Given the description of an element on the screen output the (x, y) to click on. 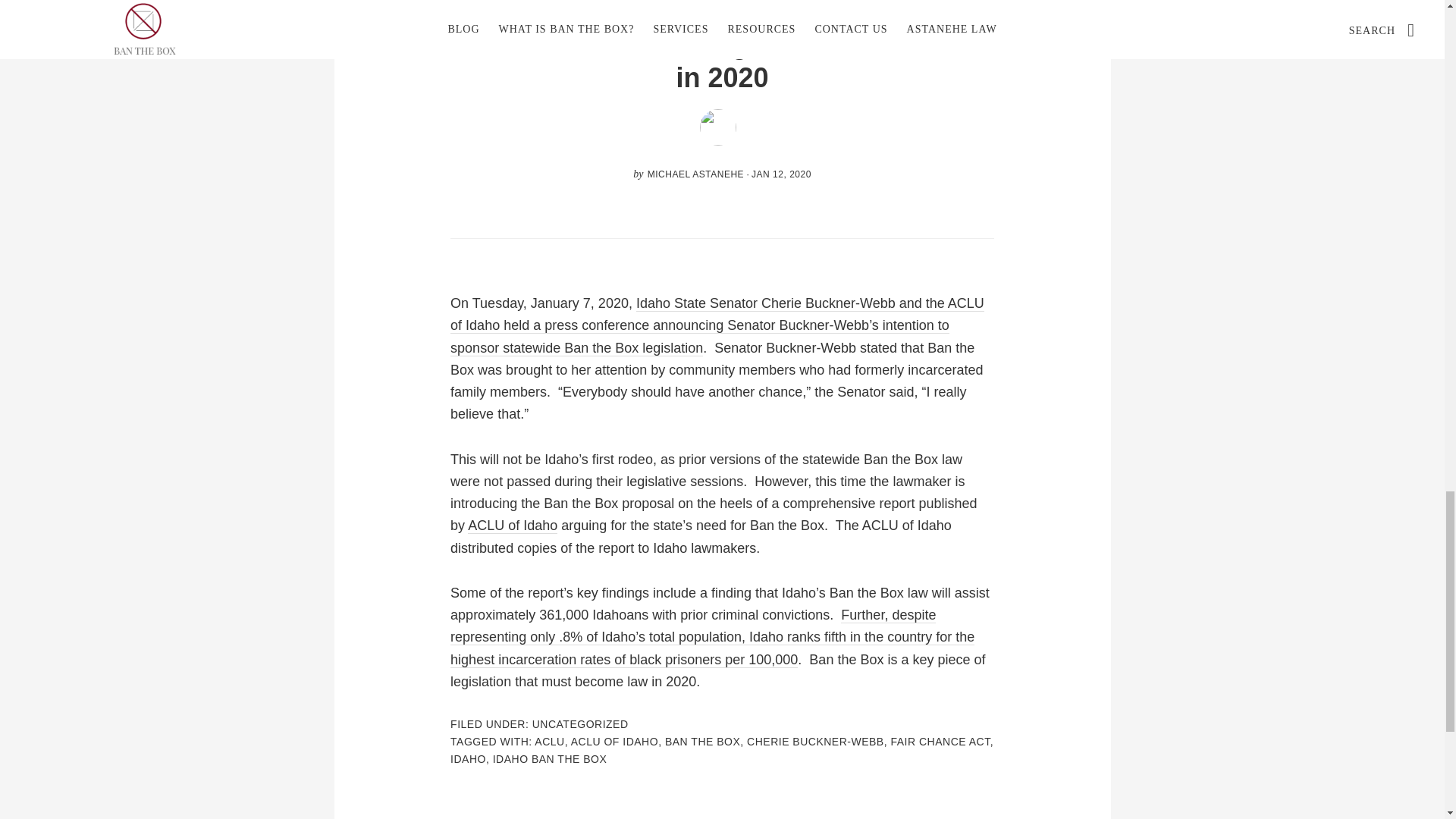
ACLU (549, 741)
UNCATEGORIZED (580, 724)
ACLU of Idaho (512, 525)
BAN THE BOX (702, 741)
Idaho Ban the Box Legislation Introduced in 2020 (721, 60)
MICHAEL ASTANEHE (695, 173)
ACLU OF IDAHO (614, 741)
